Given the description of an element on the screen output the (x, y) to click on. 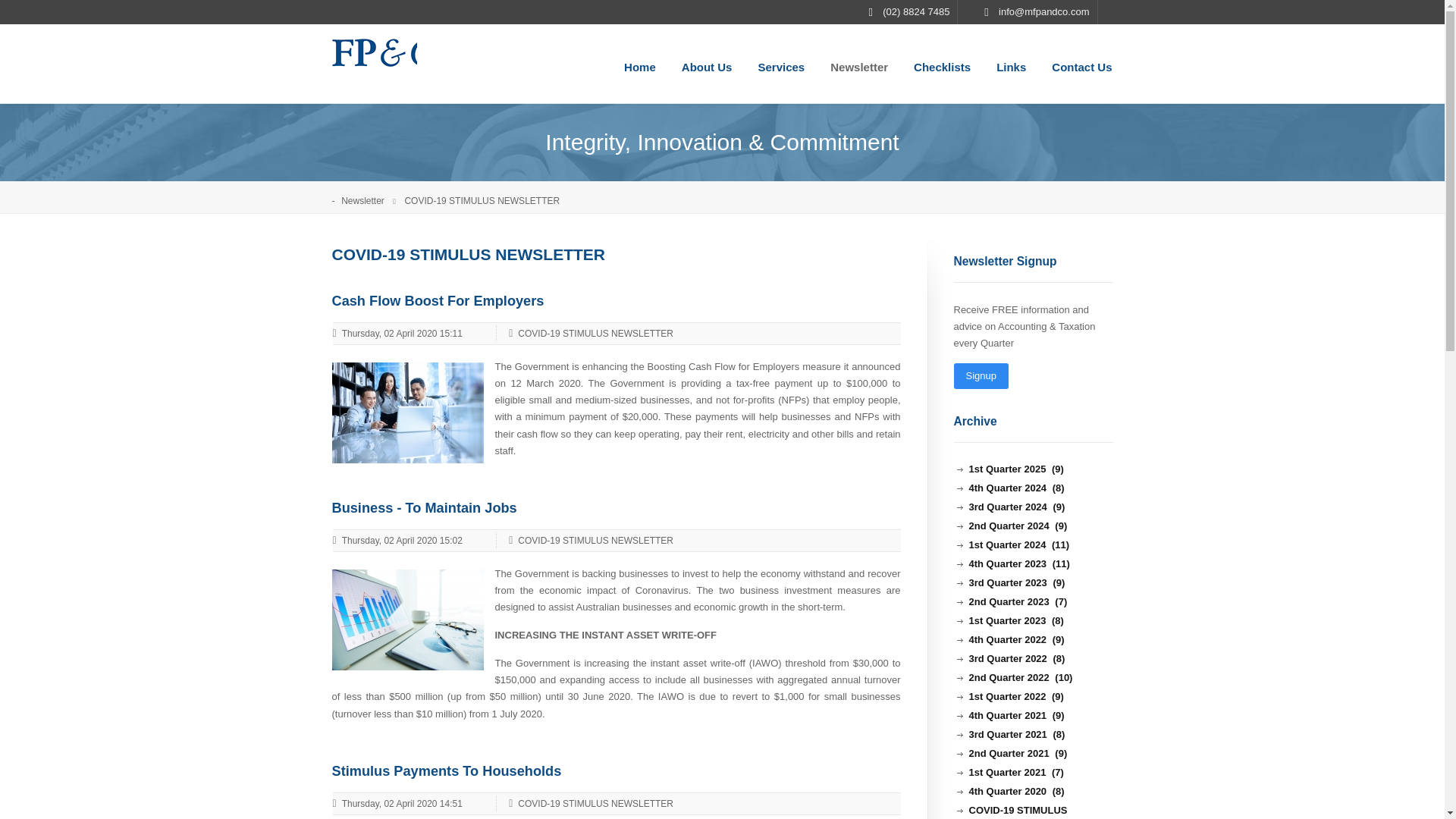
Services (780, 63)
Business - To Maintain Jobs (407, 618)
Signup (981, 376)
COVID-19 STIMULUS NEWSLETTER (590, 803)
About Us (706, 63)
Business - To Maintain Jobs (423, 507)
Home (639, 63)
Cash Flow Boost For Employers (407, 411)
COVID-19 STIMULUS NEWSLETTER (590, 540)
Newsletter (858, 63)
Stimulus Payments To Households (446, 770)
COVID-19 STIMULUS NEWSLETTER (590, 333)
Cash Flow Boost For Employers (437, 300)
Newsletter (370, 200)
Contact Us (1081, 63)
